Given the description of an element on the screen output the (x, y) to click on. 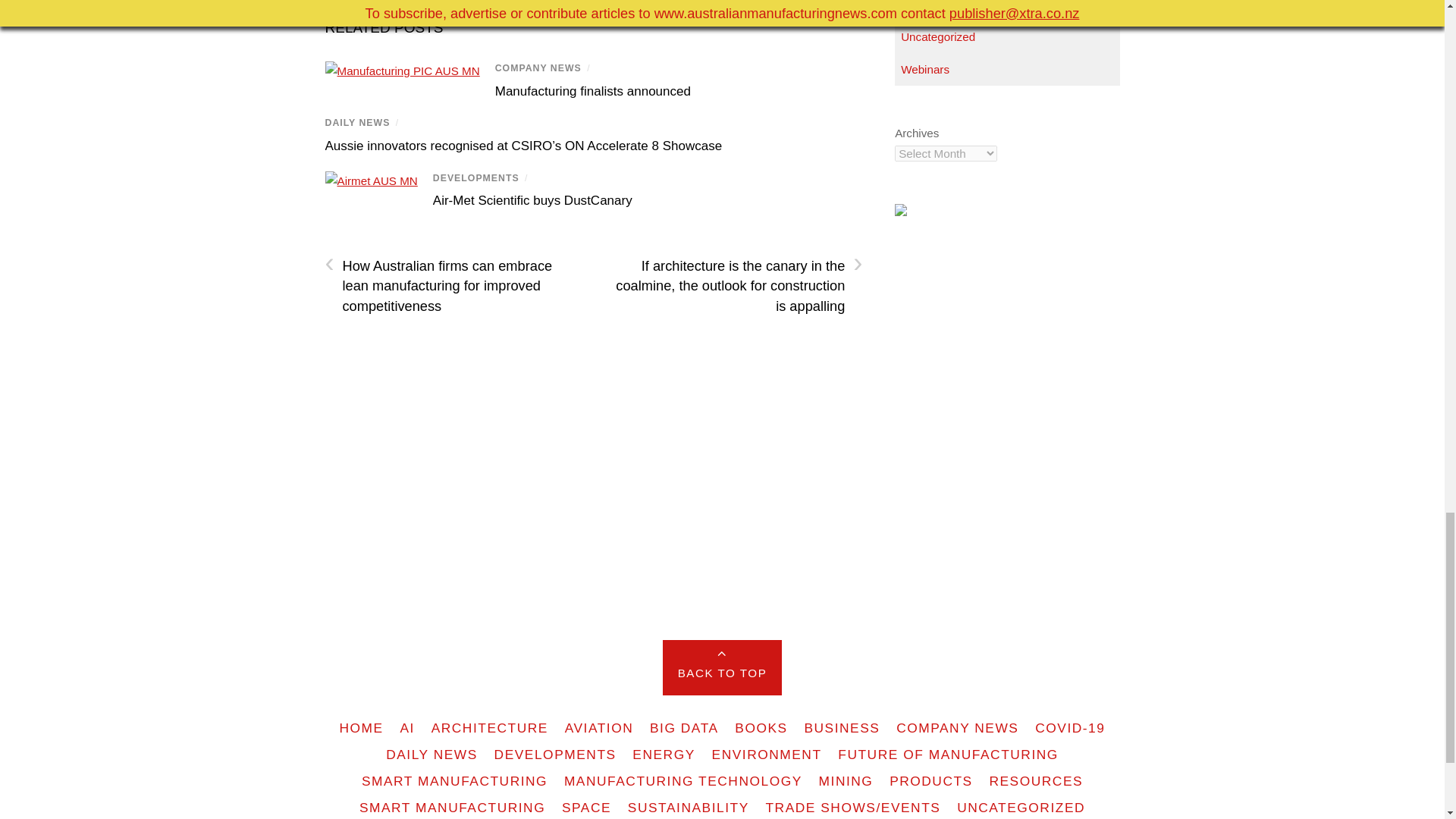
Manufacturing PIC AUS MN (401, 71)
